Given the description of an element on the screen output the (x, y) to click on. 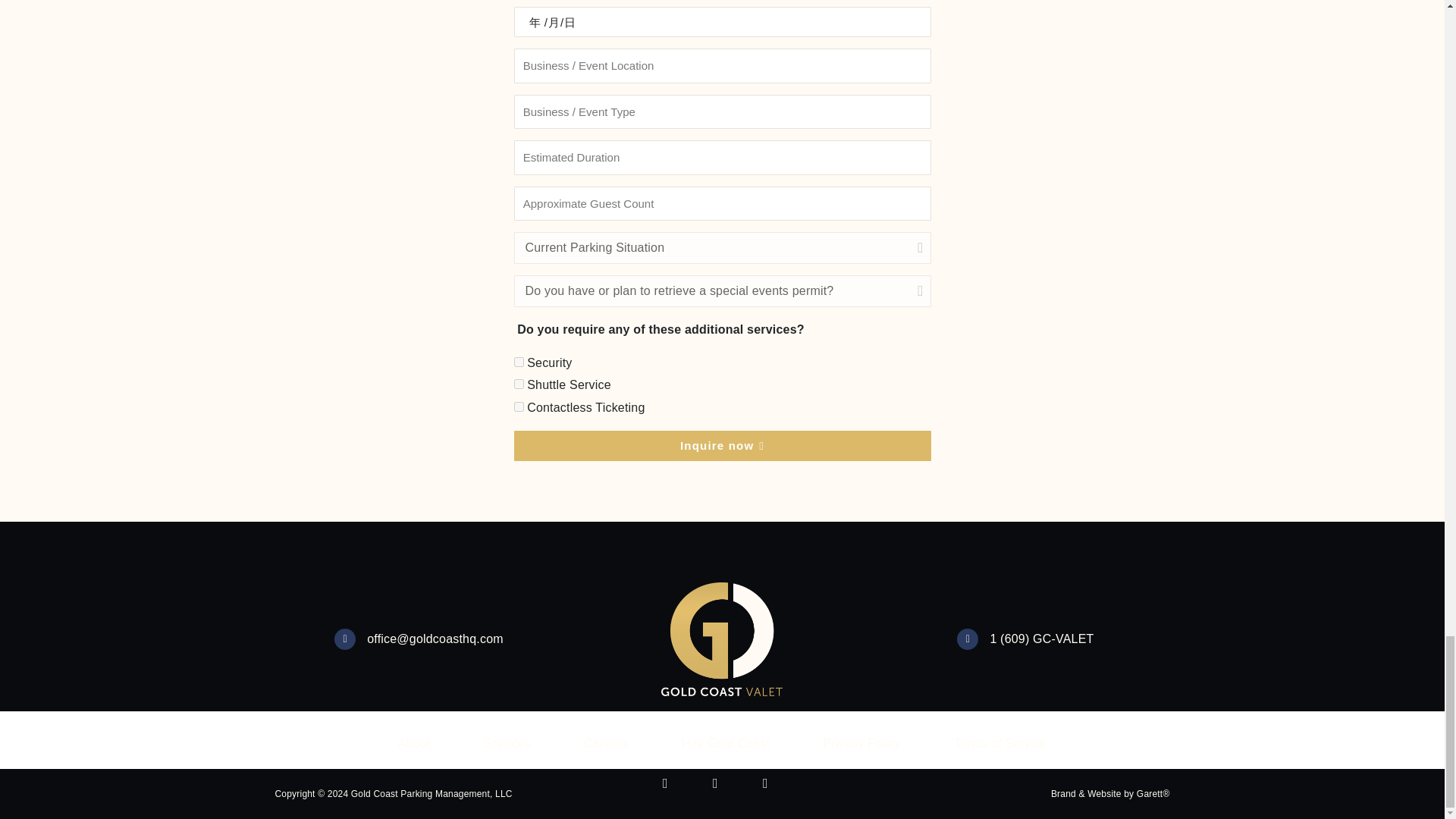
Contactless Ticketing (518, 406)
Security (518, 361)
Shuttle Service (518, 384)
